Given the description of an element on the screen output the (x, y) to click on. 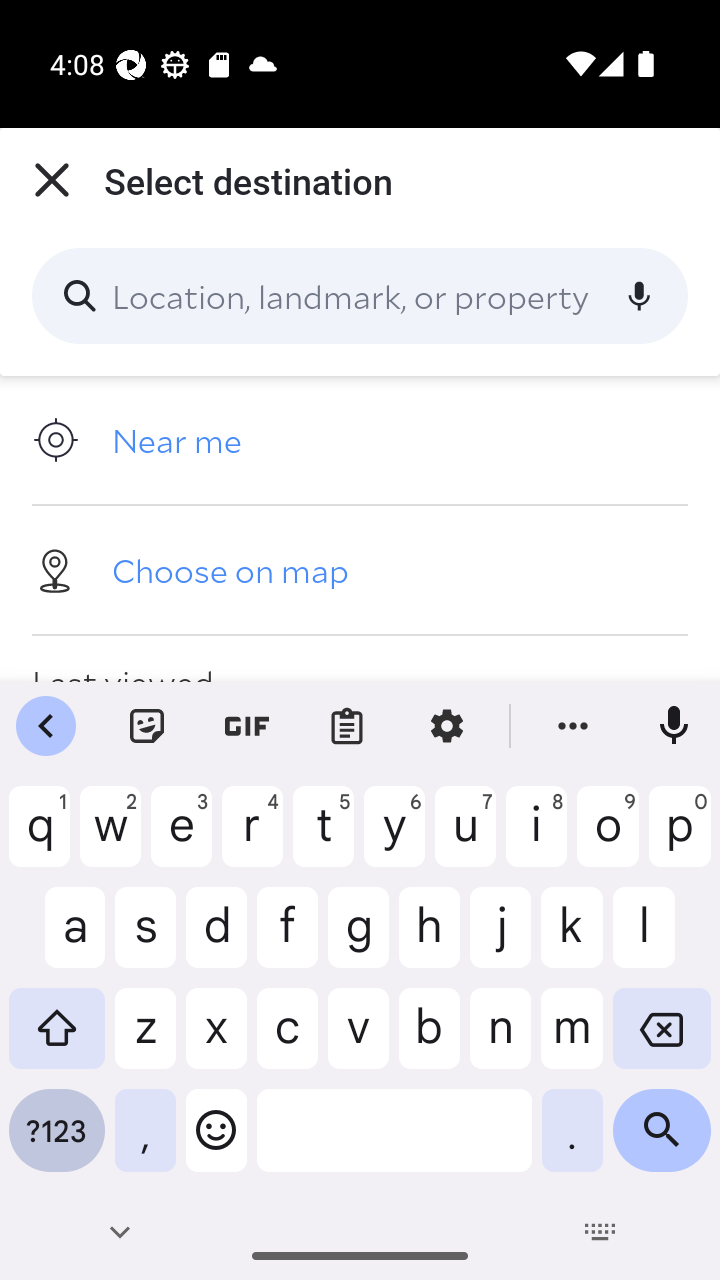
Location, landmark, or property (359, 296)
Near me (360, 440)
Choose on map (360, 569)
